Given the description of an element on the screen output the (x, y) to click on. 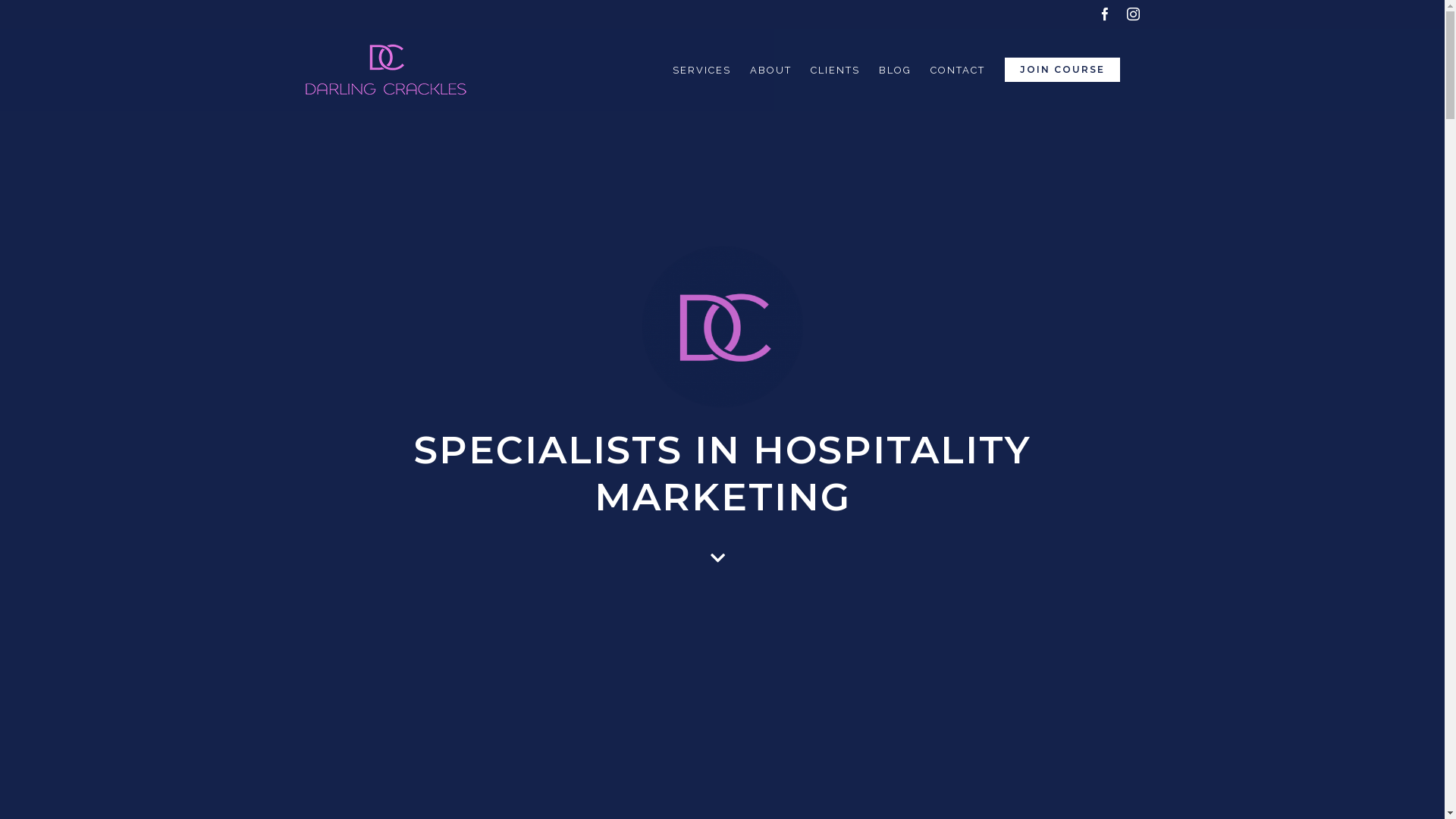
SERVICES Element type: text (700, 69)
CLIENTS Element type: text (834, 69)
ABOUT Element type: text (769, 69)
JOIN COURSE Element type: text (1062, 69)
instagram Element type: text (1132, 13)
facebook Element type: text (1104, 13)
BLOG Element type: text (894, 69)
CONTACT Element type: text (956, 69)
